Given the description of an element on the screen output the (x, y) to click on. 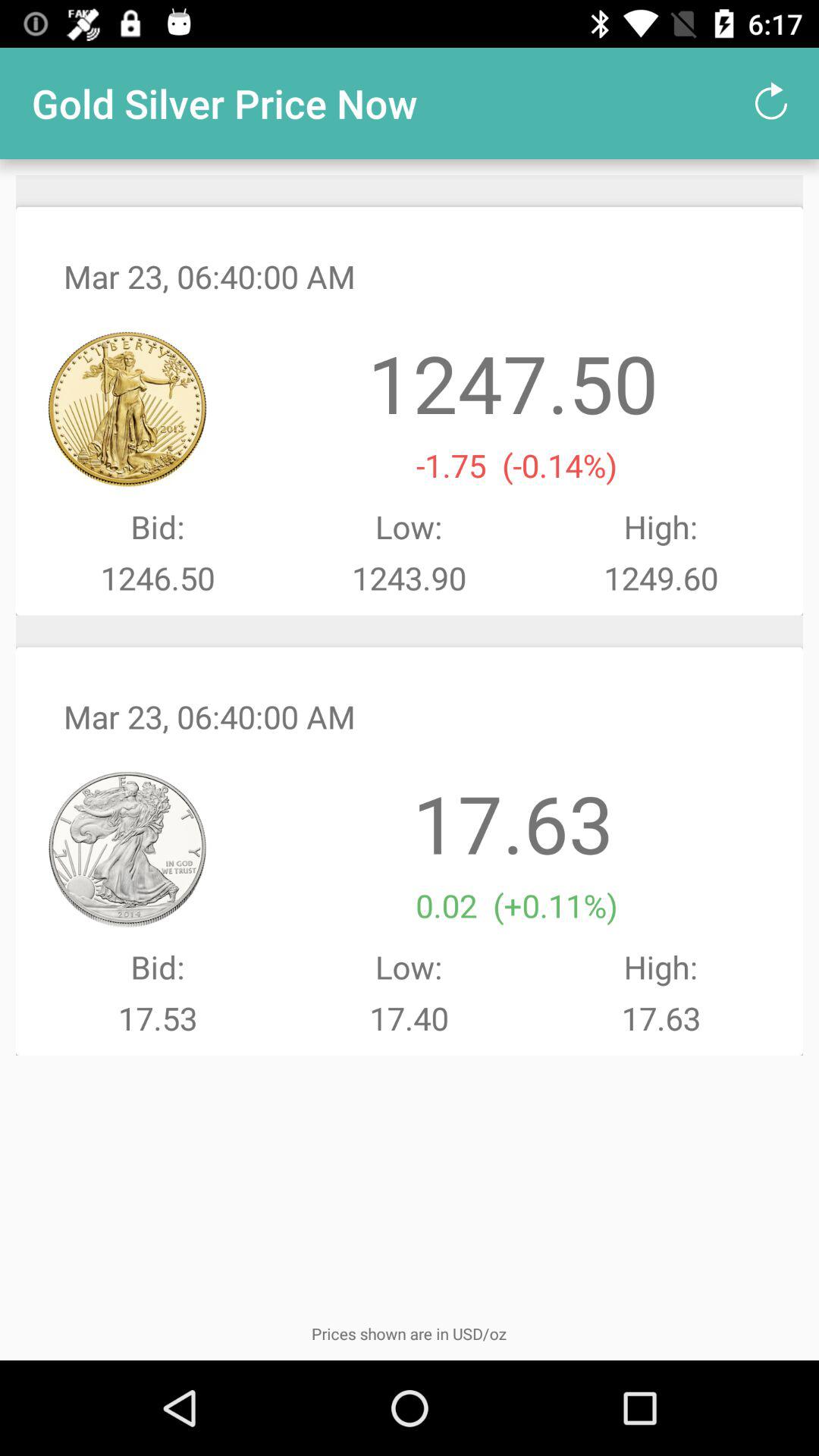
click the icon above the 1247.50 icon (771, 103)
